Given the description of an element on the screen output the (x, y) to click on. 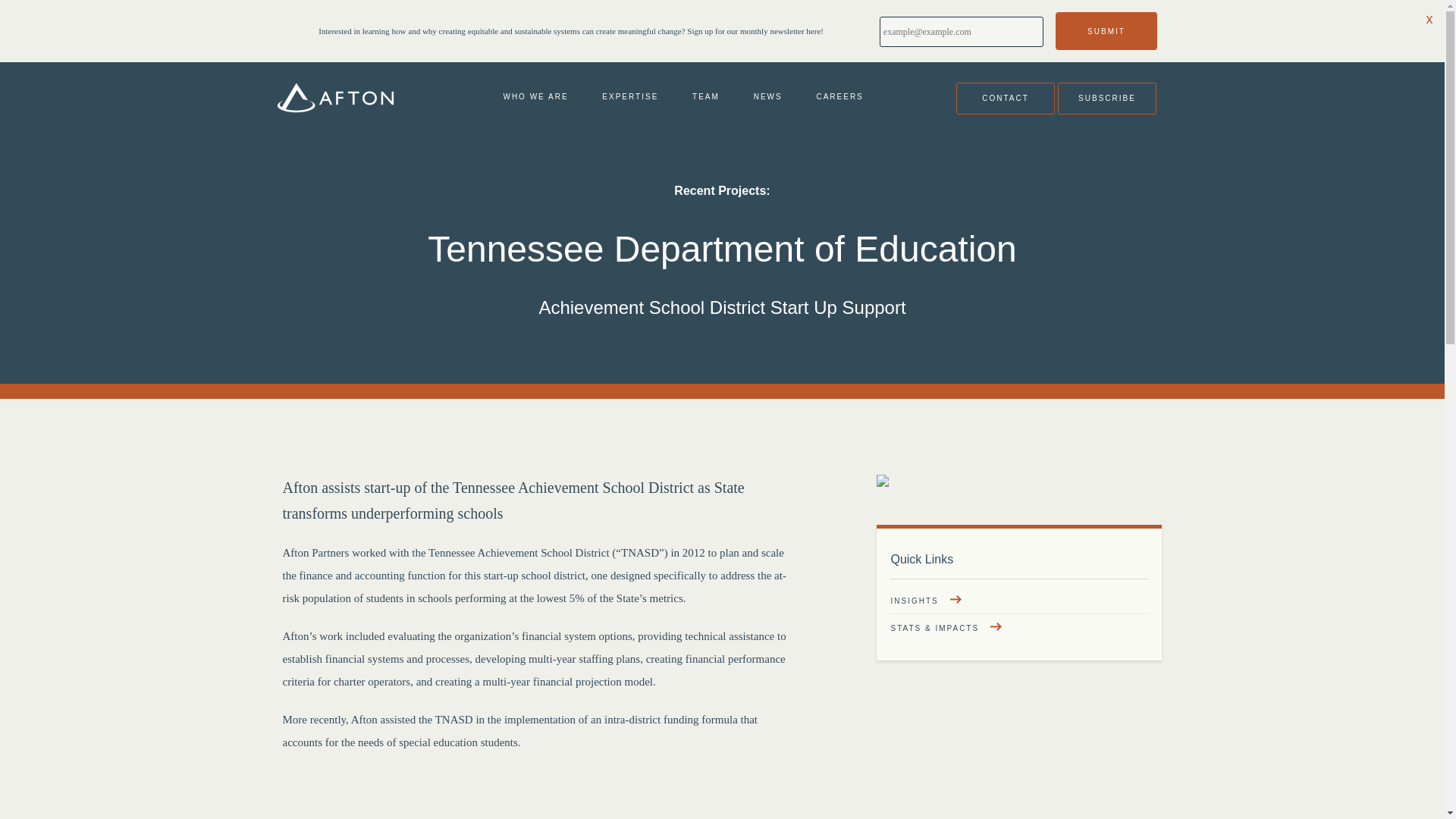
Afton Partners (335, 97)
x (1429, 14)
TEAM (706, 97)
CONTACT (1005, 97)
CAREERS (839, 97)
EXPERTISE (630, 97)
Submit (1106, 30)
INSIGHTS (924, 601)
SUBSCRIBE (1106, 97)
NEWS (768, 97)
WHO WE ARE (534, 97)
Submit (1106, 30)
INSIGHTS (924, 601)
